Given the description of an element on the screen output the (x, y) to click on. 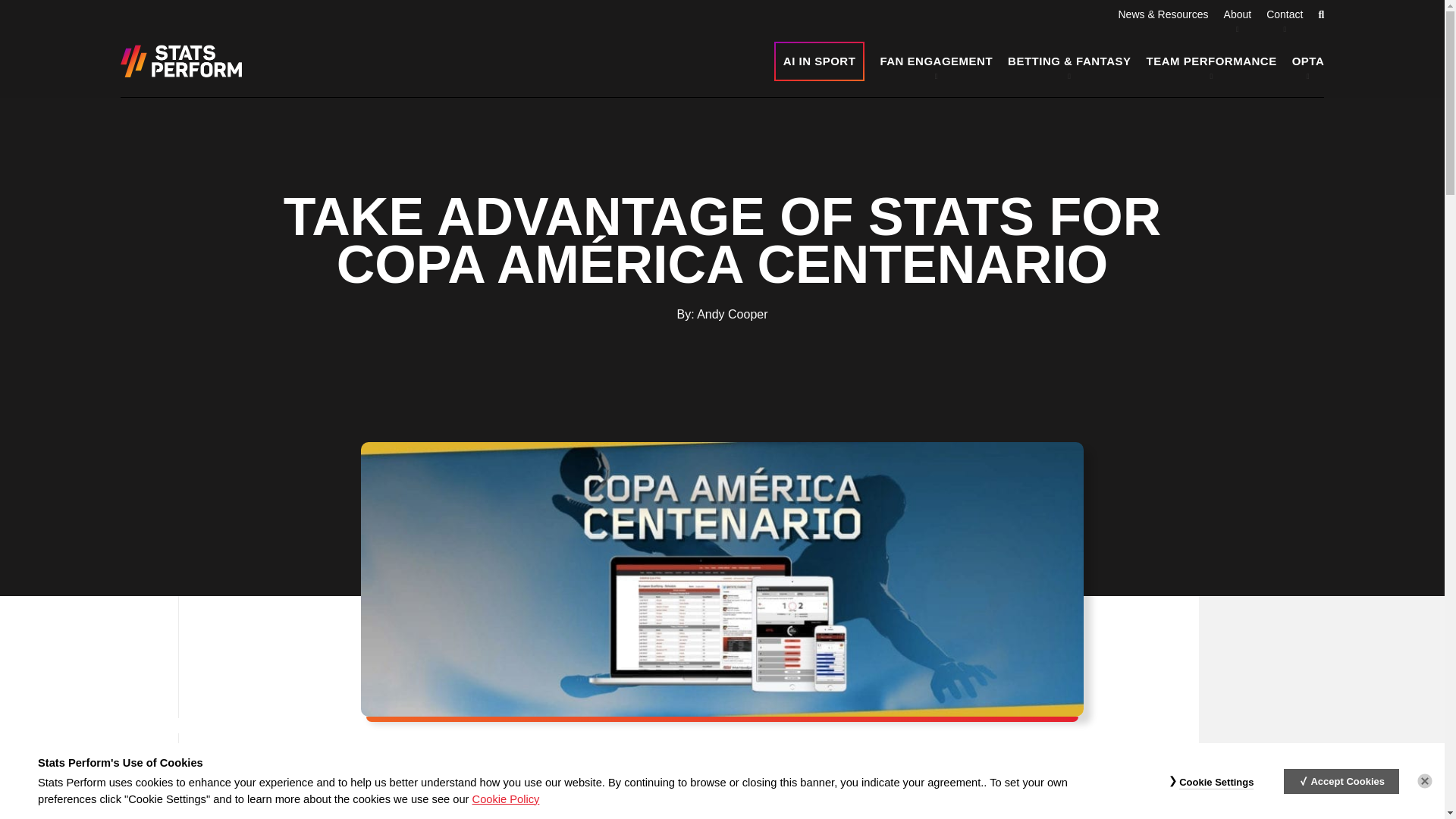
About (1238, 14)
AI IN SPORT (819, 61)
Contact (1284, 14)
Cookie Policy (505, 799)
Cookie Settings (1216, 782)
Accept Cookies (1341, 781)
Accept Cookies (1341, 781)
Cookie Settings (1216, 782)
AI in Sport (819, 61)
Close (1424, 781)
FAN ENGAGEMENT (935, 61)
Fan Engagement (935, 61)
